Given the description of an element on the screen output the (x, y) to click on. 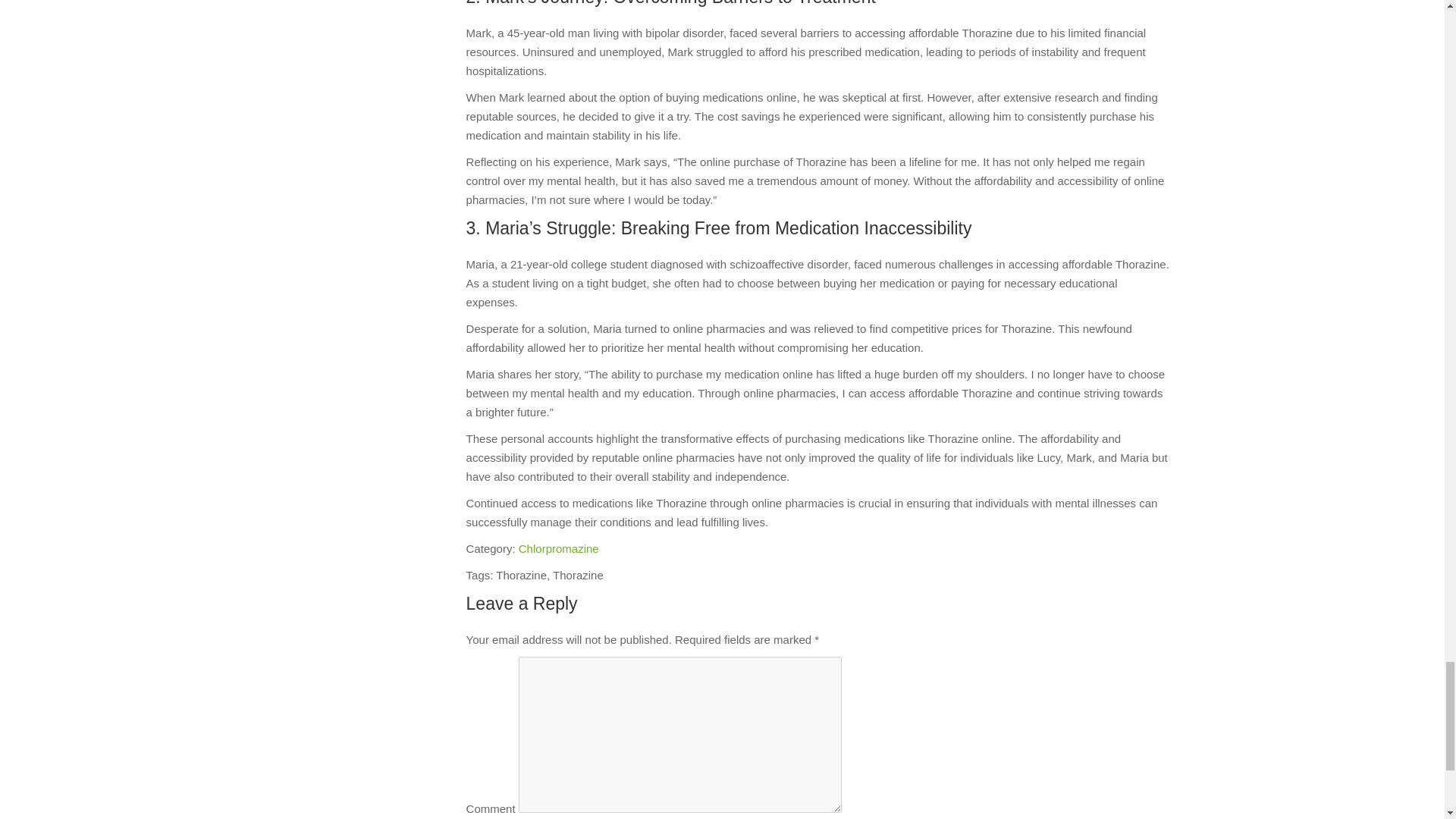
Chlorpromazine (558, 548)
